Given the description of an element on the screen output the (x, y) to click on. 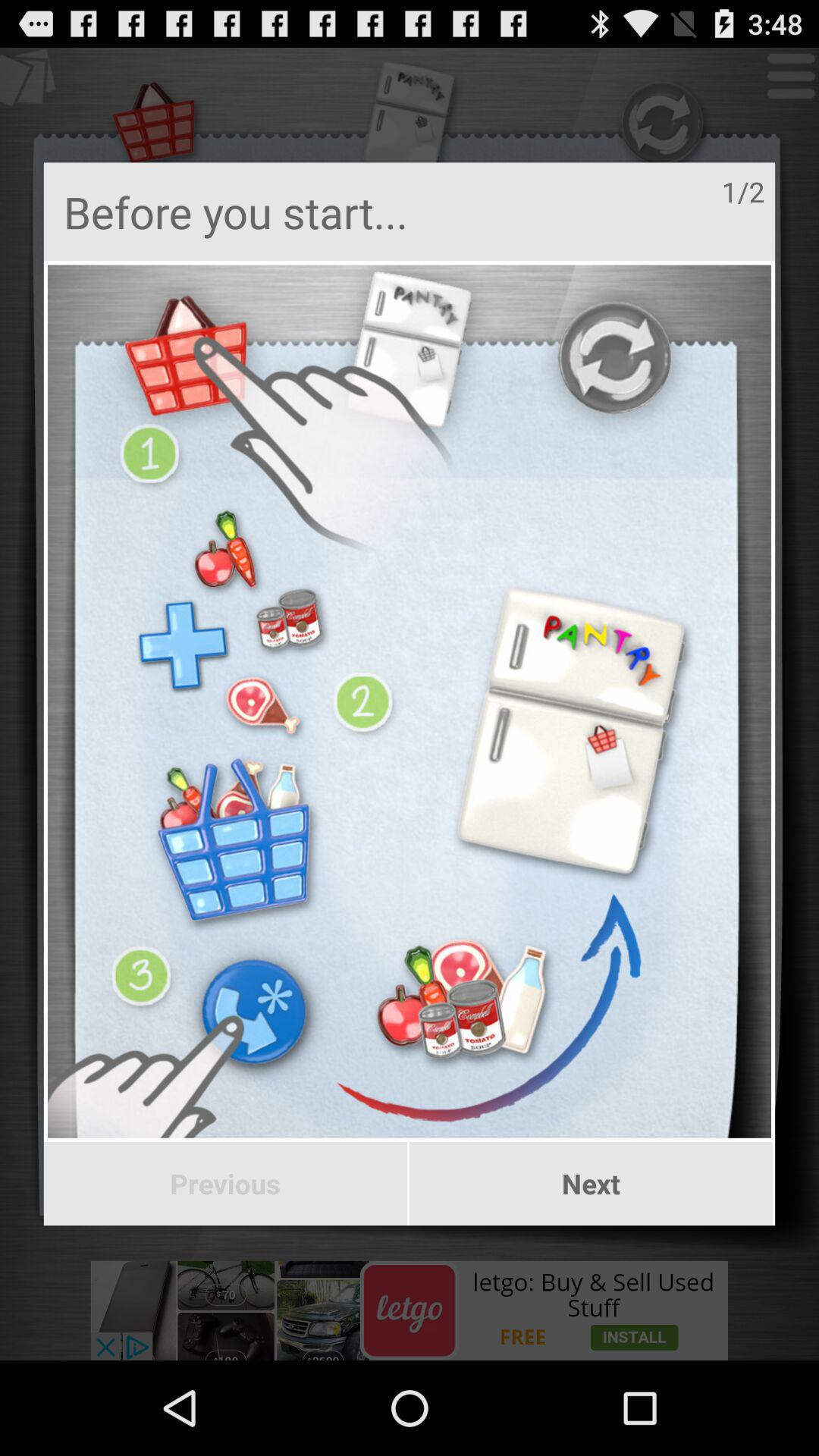
choose the item to the left of next (225, 1183)
